Given the description of an element on the screen output the (x, y) to click on. 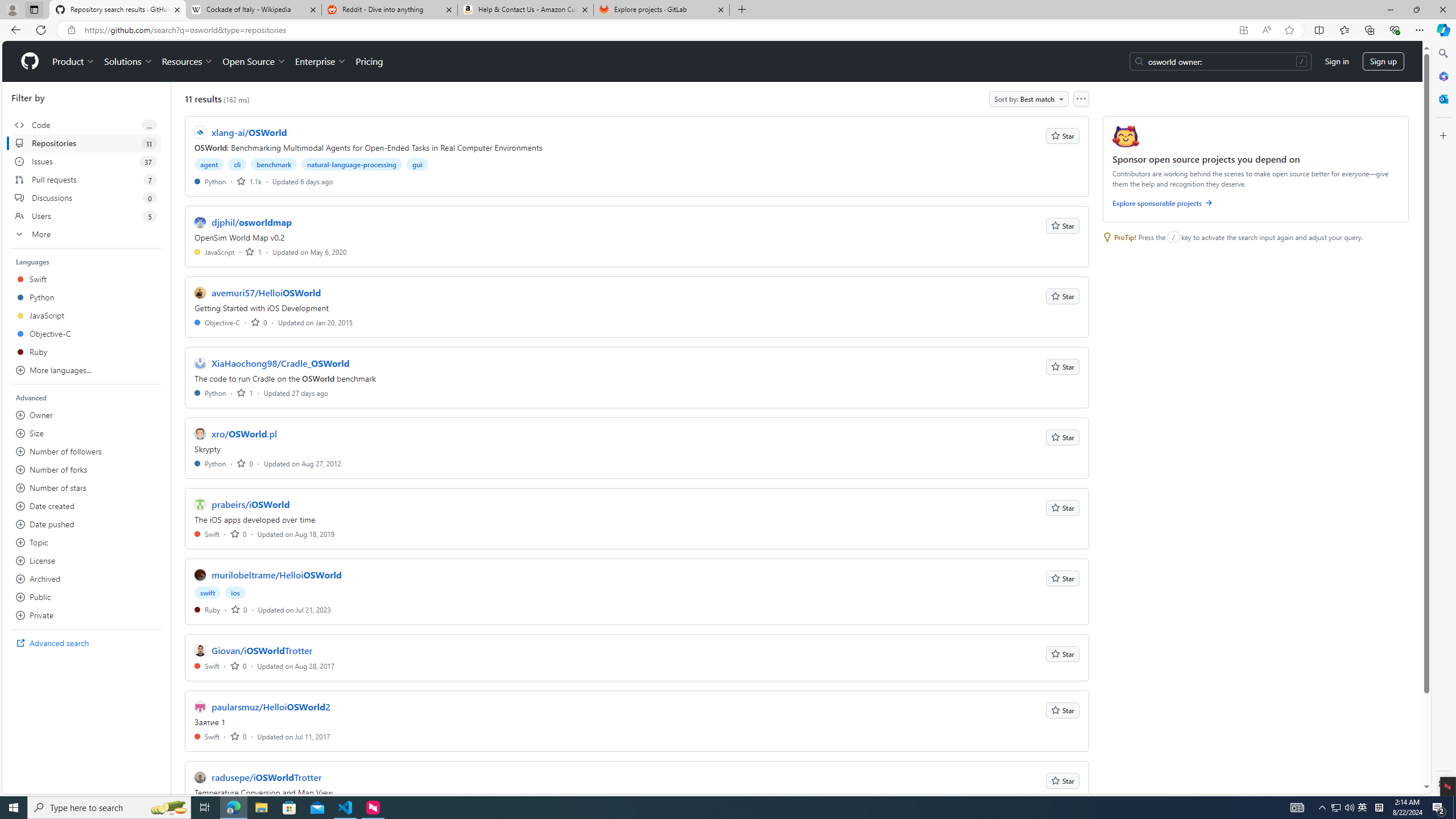
djphil/osworldmap (251, 222)
Updated on Aug 27, 2012 (301, 462)
Product (74, 60)
App available. Install GitHub (1243, 29)
